Given the description of an element on the screen output the (x, y) to click on. 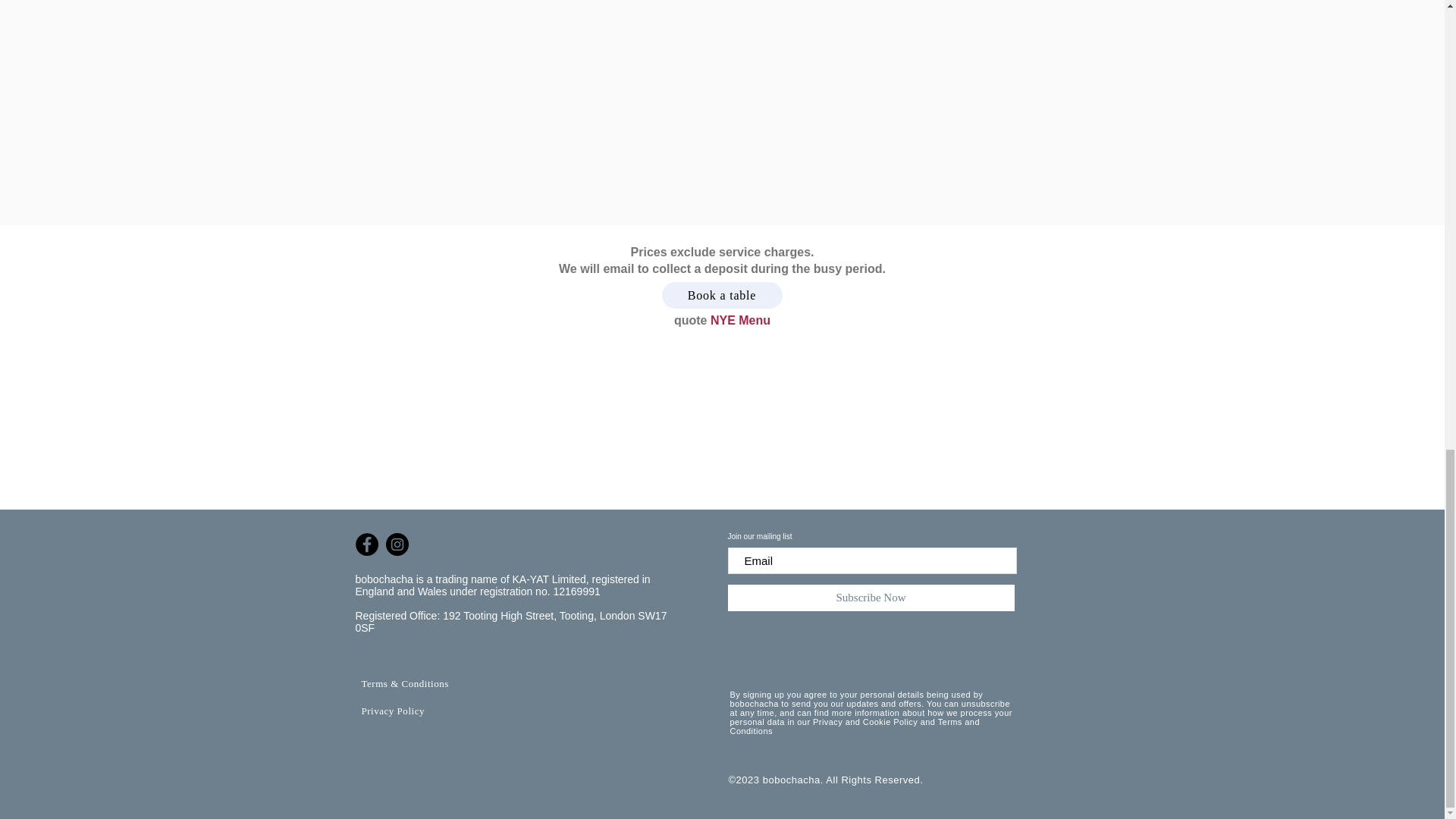
Privacy Policy (392, 710)
Book a table (721, 294)
Subscribe Now (871, 597)
